Given the description of an element on the screen output the (x, y) to click on. 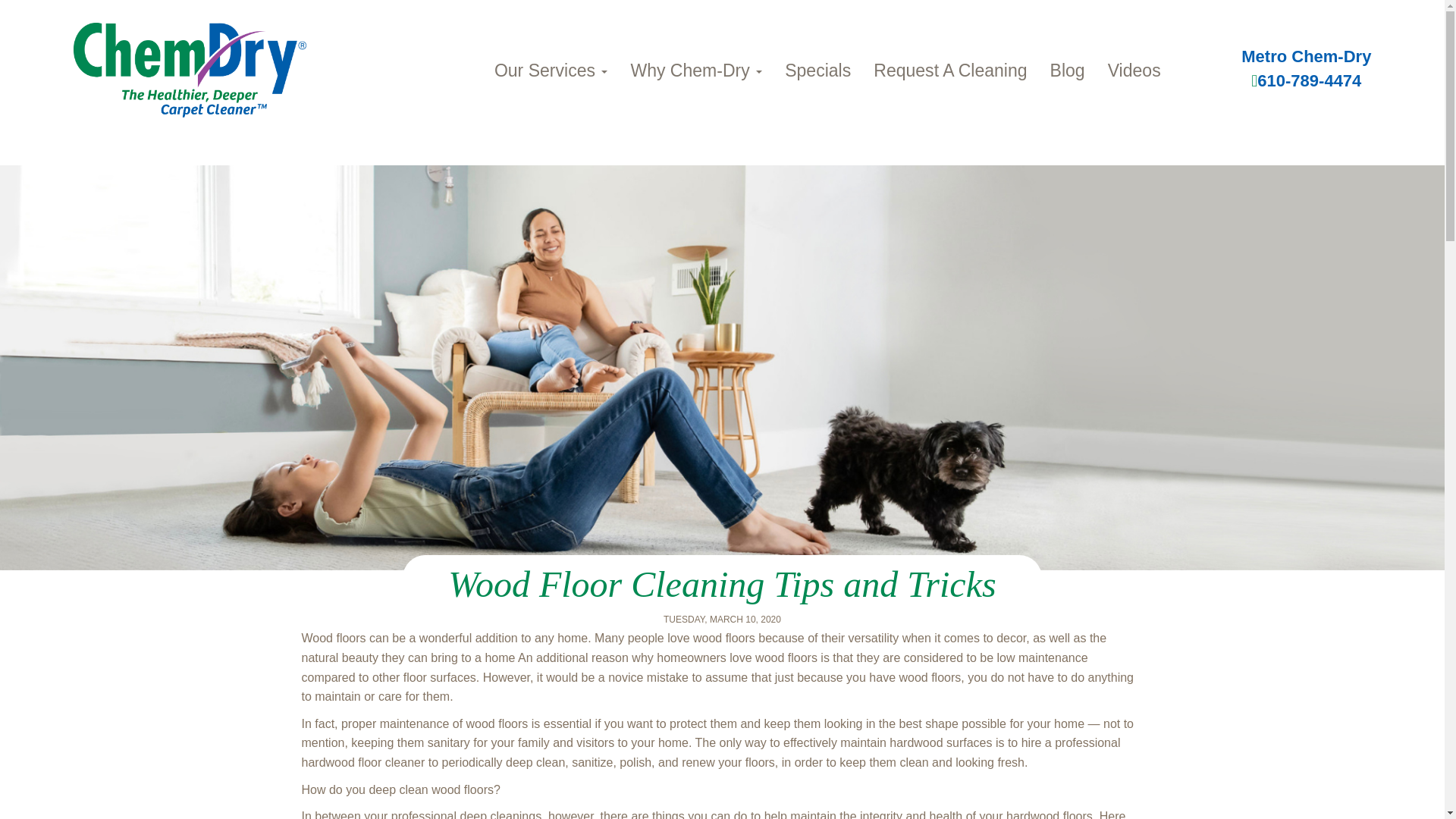
Our Services (551, 70)
Call Metro Chem-Dry (1305, 80)
Skip to main content (55, 124)
Request A Cleaning (949, 70)
Specials (817, 70)
610-789-4474 (1305, 80)
Blog (1067, 70)
Videos (1134, 70)
Logo (189, 69)
Why Chem-Dry (695, 70)
